Given the description of an element on the screen output the (x, y) to click on. 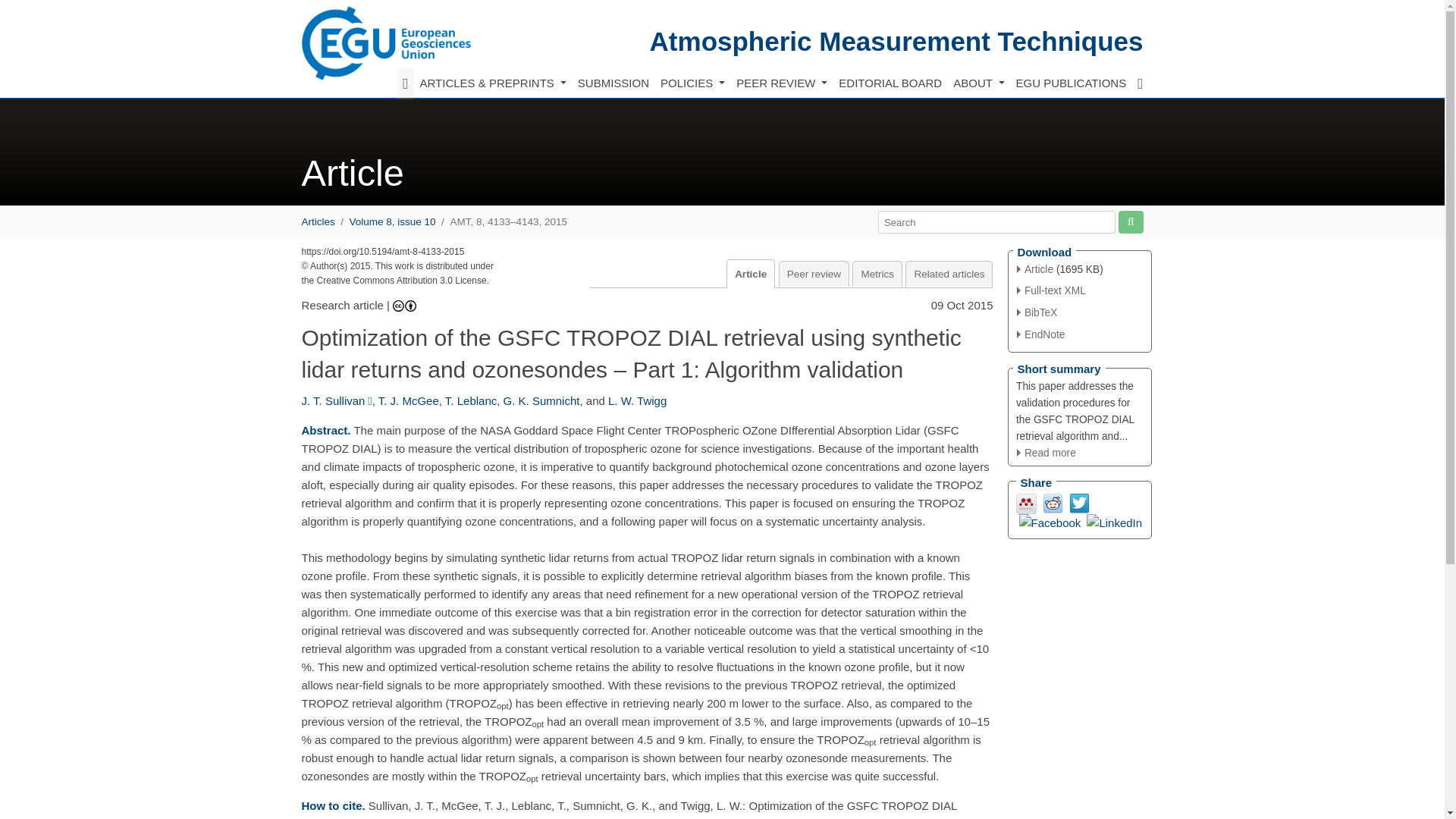
EDITORIAL BOARD (889, 83)
PEER REVIEW (781, 83)
Atmospheric Measurement Techniques (895, 41)
XML Version (1051, 290)
POLICIES (691, 83)
Start site search (1130, 221)
Reddit (1052, 502)
Twitter (1078, 502)
Mendeley (1026, 502)
SUBMISSION (612, 83)
